Given the description of an element on the screen output the (x, y) to click on. 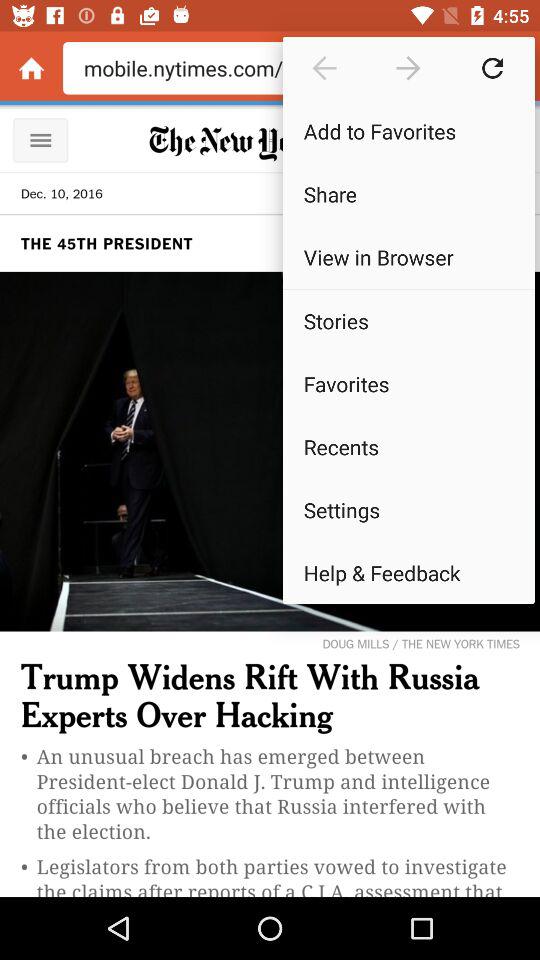
tap the icon above share icon (408, 130)
